Given the description of an element on the screen output the (x, y) to click on. 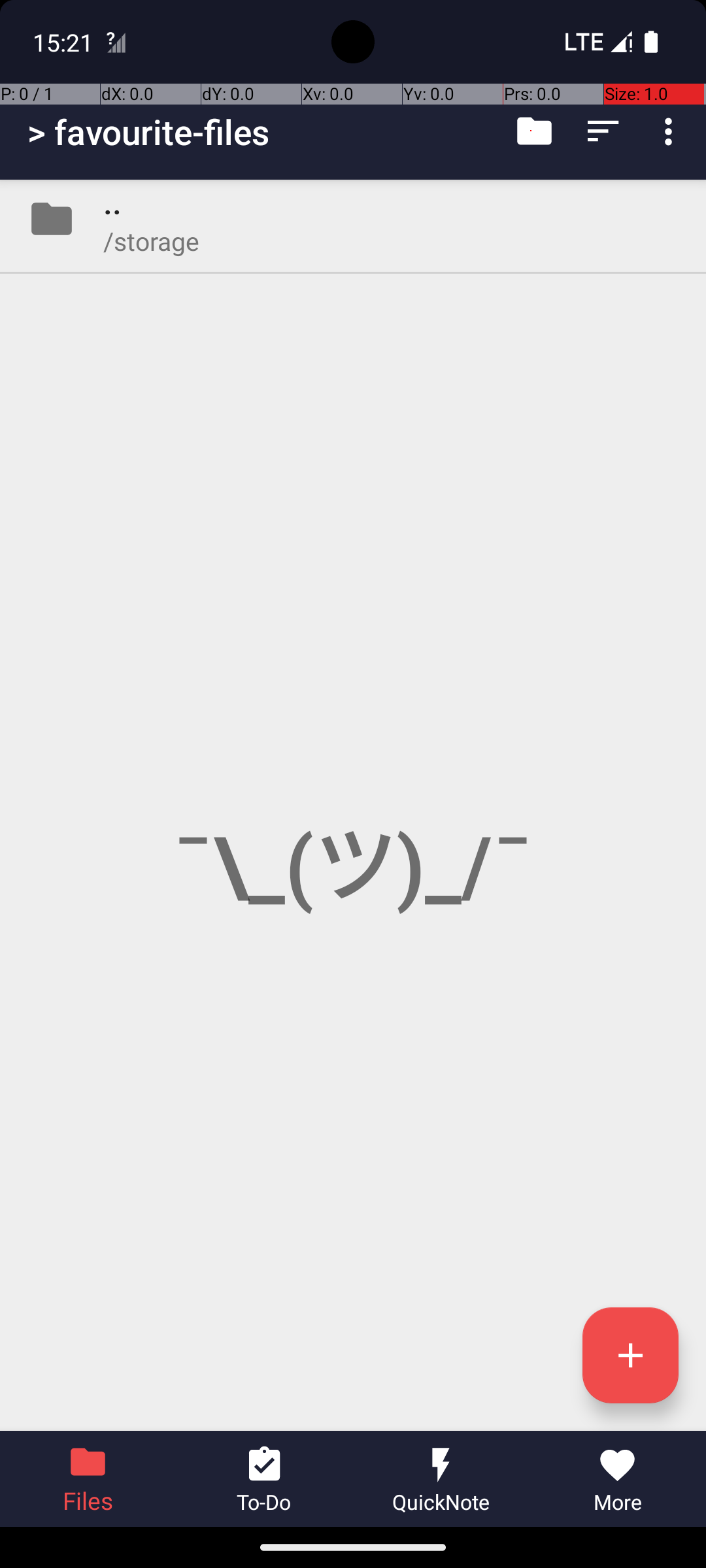
> favourite-files Element type: android.widget.TextView (148, 131)
Folder .. 10/16/2023, 10:33 Element type: android.widget.LinearLayout (353, 218)
15:21 Element type: android.widget.TextView (64, 41)
